Given the description of an element on the screen output the (x, y) to click on. 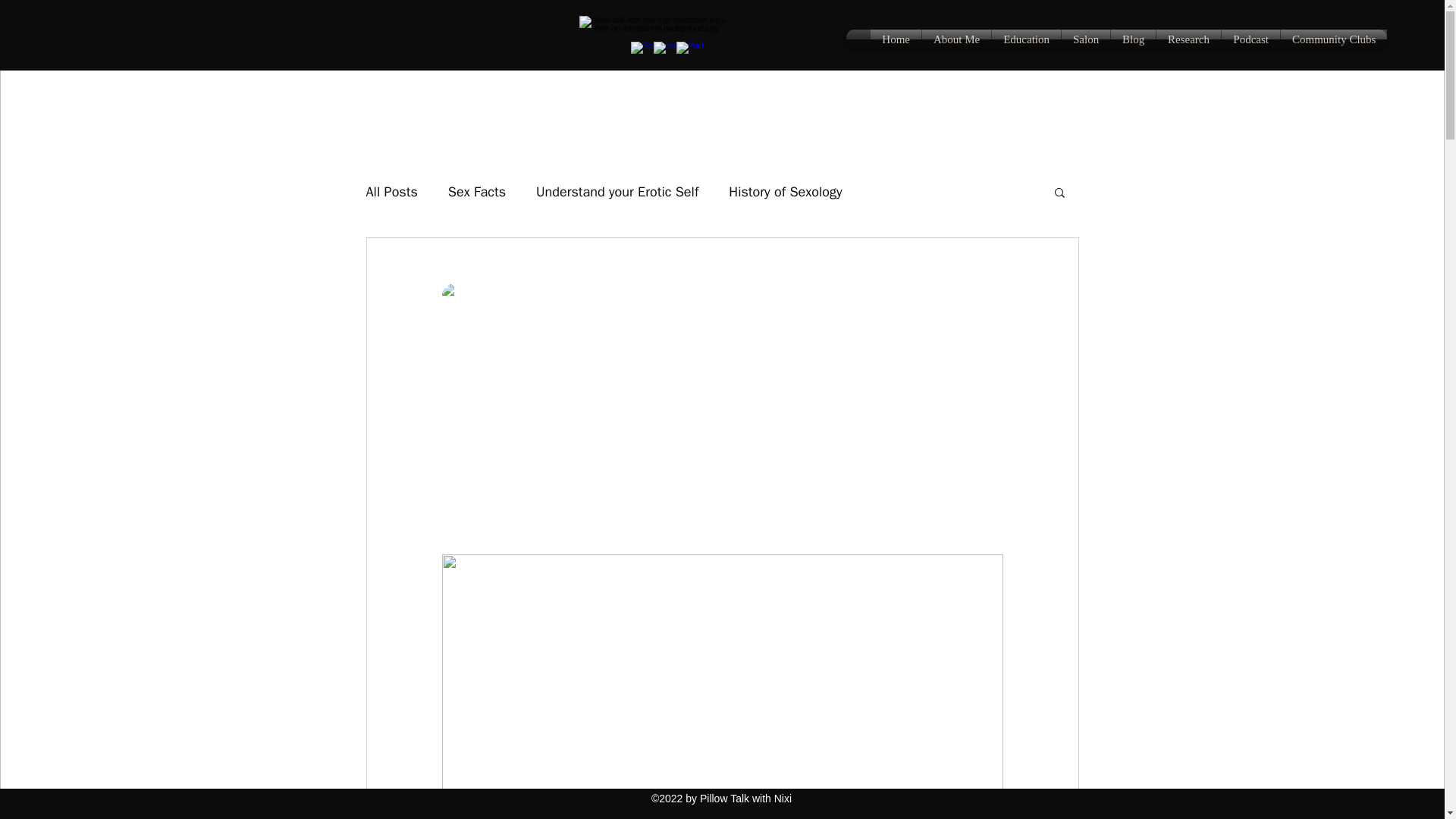
About Me (956, 39)
Sex Facts (476, 191)
Education (1026, 39)
All Posts (390, 191)
Understand your Erotic Self (616, 191)
Research (1188, 39)
Blog (1133, 39)
Salon (1085, 39)
Home (895, 39)
Nishita Rao (497, 295)
Podcast (1250, 39)
History of Sexology (785, 191)
Nishita Rao (485, 295)
Community Clubs (1334, 39)
